Given the description of an element on the screen output the (x, y) to click on. 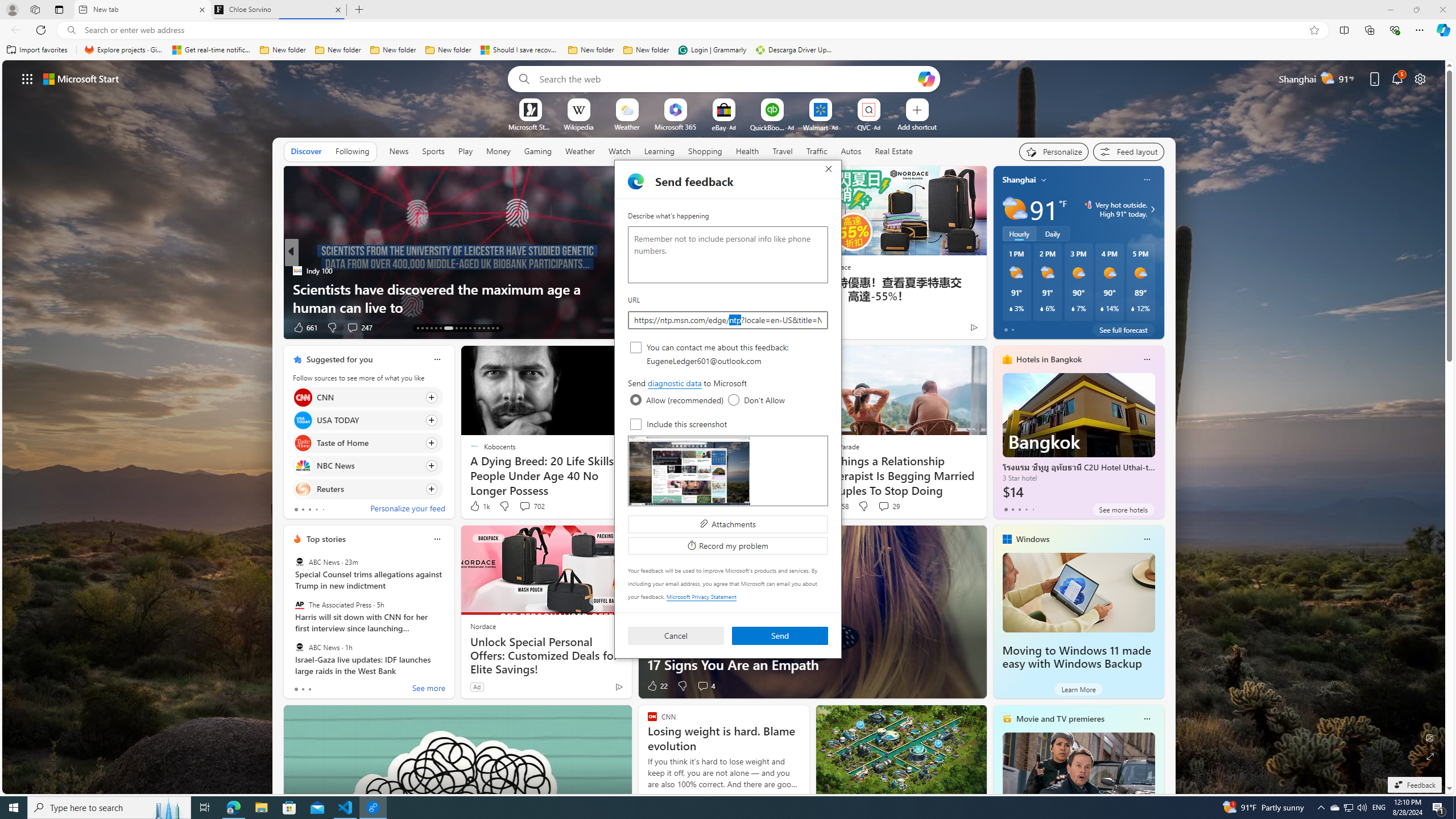
1k Like (478, 505)
Enter your search term (726, 78)
Autos (850, 151)
AutomationID: tab-16 (431, 328)
Suggested for you (338, 359)
tab-2 (309, 689)
Play (465, 151)
Send (780, 635)
Shopping (705, 151)
View comments 702 Comment (530, 505)
Running applications (706, 807)
View comments 29 Comment (883, 505)
AutomationID: tab-19 (448, 328)
